Given the description of an element on the screen output the (x, y) to click on. 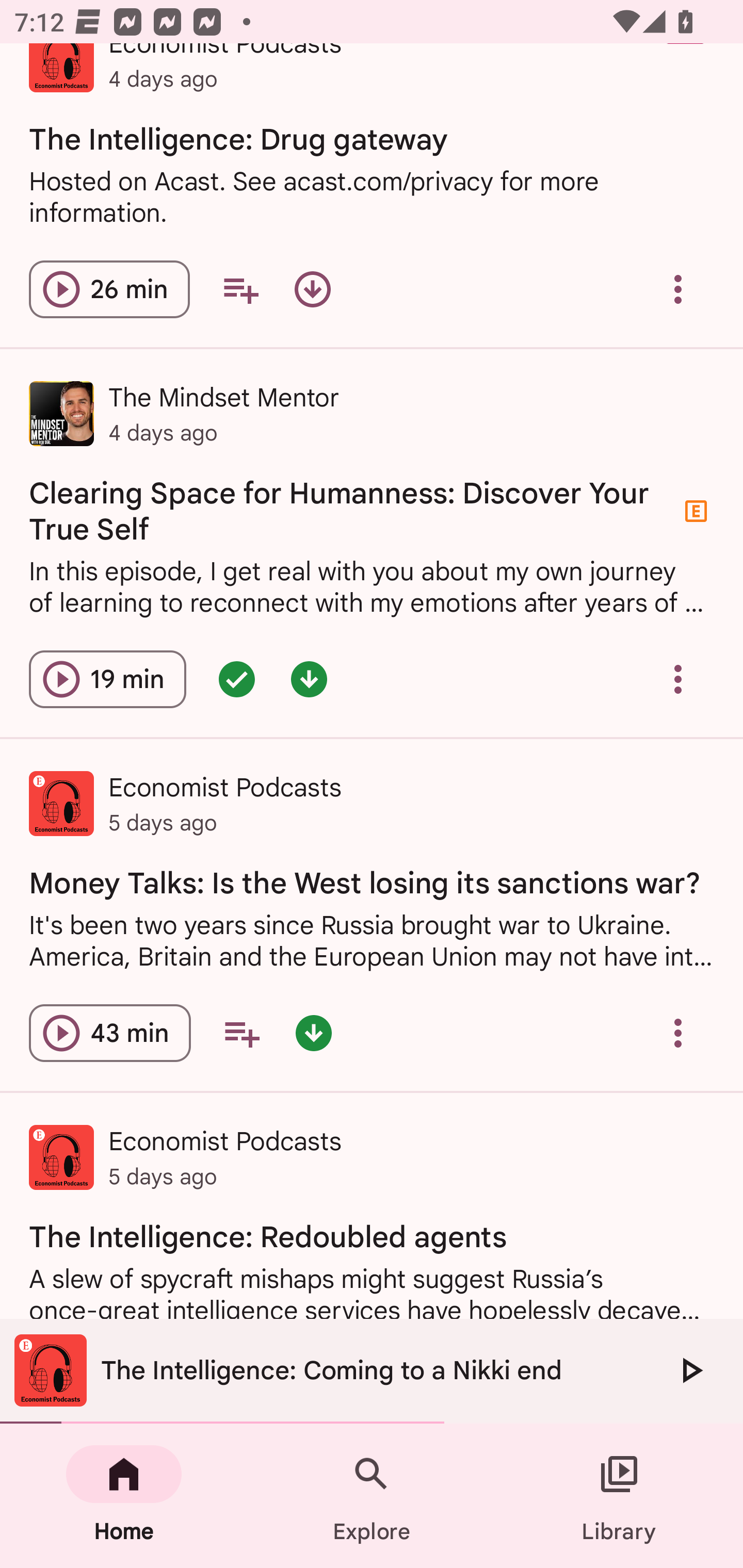
Play episode The Intelligence: Drug gateway 26 min (109, 289)
Add to your queue (240, 289)
Download episode (312, 289)
Overflow menu (677, 289)
Episode queued - double tap for options (236, 679)
Episode downloaded - double tap for options (308, 679)
Overflow menu (677, 679)
Add to your queue (241, 1033)
Episode downloaded - double tap for options (313, 1033)
Overflow menu (677, 1033)
Play (690, 1370)
Explore (371, 1495)
Library (619, 1495)
